Given the description of an element on the screen output the (x, y) to click on. 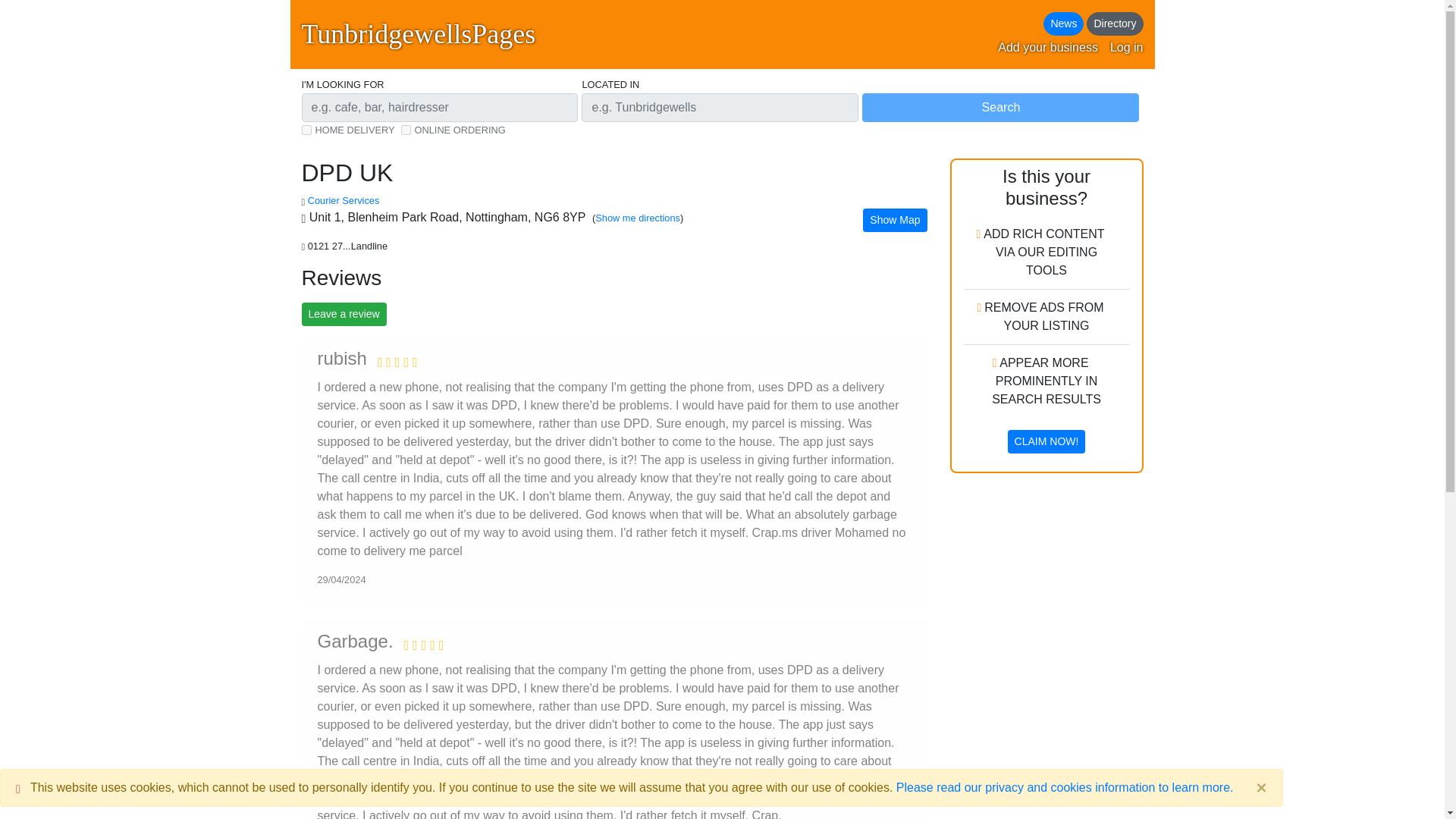
Leave a review (344, 313)
on (306, 130)
0121 27...Landline (348, 245)
Show Map (894, 219)
TunbridgewellsPages (418, 34)
on (405, 130)
Show me directions (637, 217)
click to show number (348, 245)
News (1063, 24)
Log in (1125, 47)
